Given the description of an element on the screen output the (x, y) to click on. 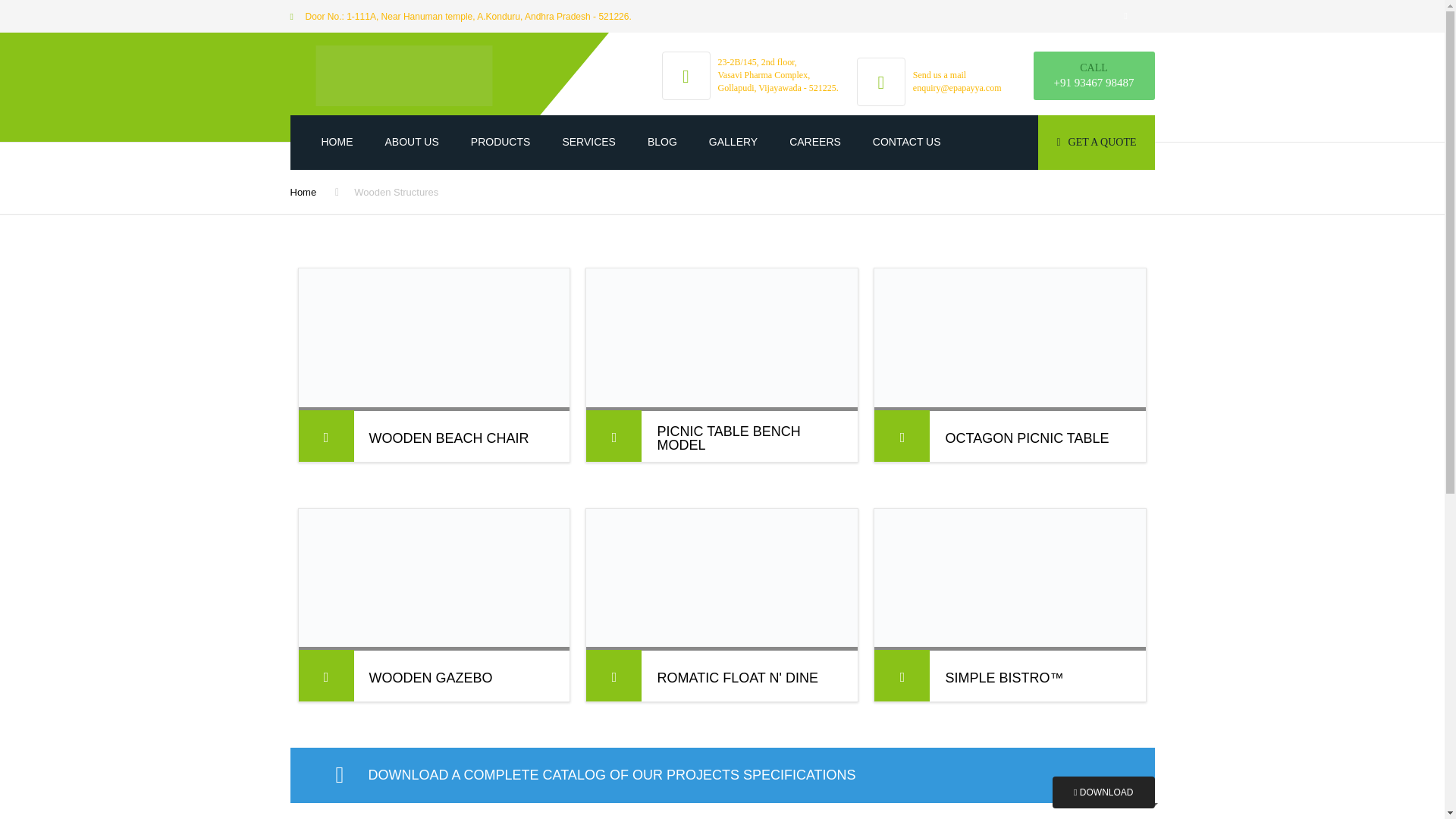
BLOG (662, 142)
PICNIC TABLE BENCH MODEL (745, 438)
ROMATIC FLOAT N' DINE (736, 677)
CAREERS (815, 142)
PRODUCTS (500, 142)
Home (302, 192)
WOODEN GAZEBO (430, 677)
HOME (336, 142)
WOODEN BEACH CHAIR (448, 438)
OCTAGON PICNIC TABLE (1026, 438)
SERVICES (588, 142)
CONTACT US (906, 142)
GET A QUOTE (1096, 142)
ABOUT US (411, 142)
GALLERY (733, 142)
